Given the description of an element on the screen output the (x, y) to click on. 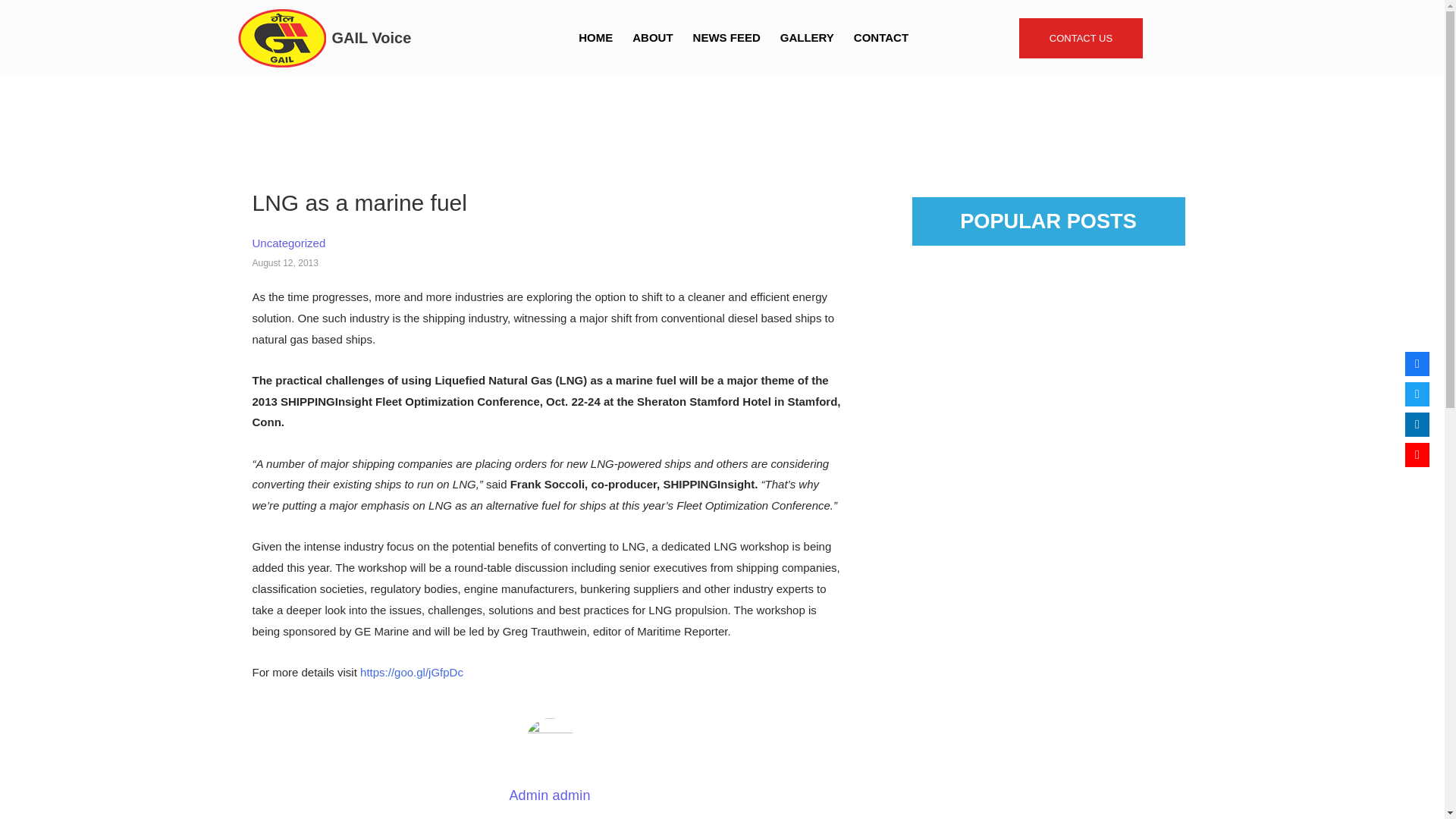
GALLERY (807, 37)
Twitter (1417, 394)
CONTACT (881, 37)
Facebook (1417, 363)
NEWS FEED (726, 37)
LinkedIn (1417, 424)
Youtube (1417, 454)
CONTACT US (1080, 38)
GAIL Voice (371, 36)
ABOUT (652, 37)
HOME (596, 37)
